Given the description of an element on the screen output the (x, y) to click on. 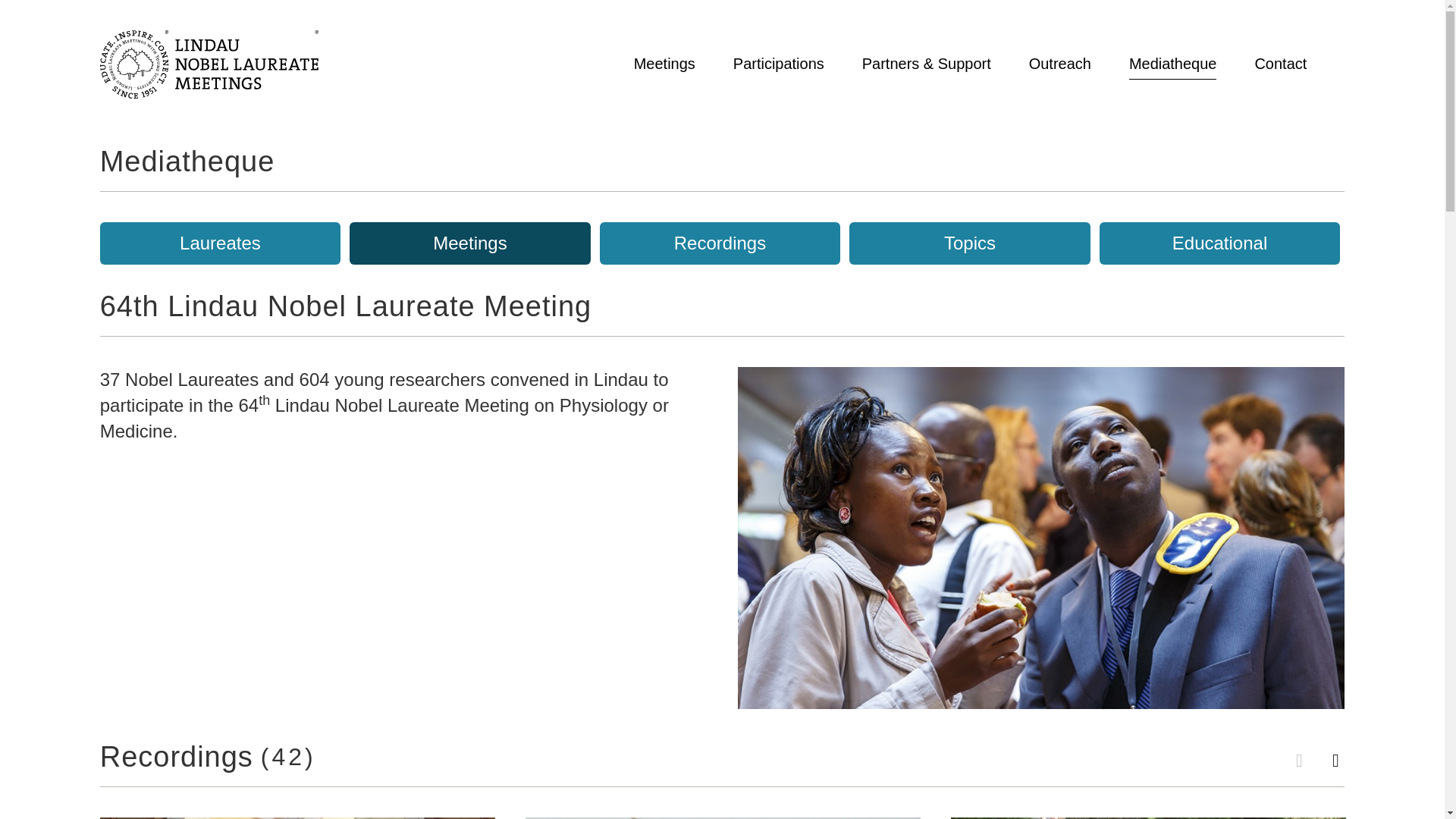
Outreach (1059, 63)
Meetings (664, 63)
Participations (778, 63)
Mediatheque (1173, 63)
Mediatheque (187, 161)
